Given the description of an element on the screen output the (x, y) to click on. 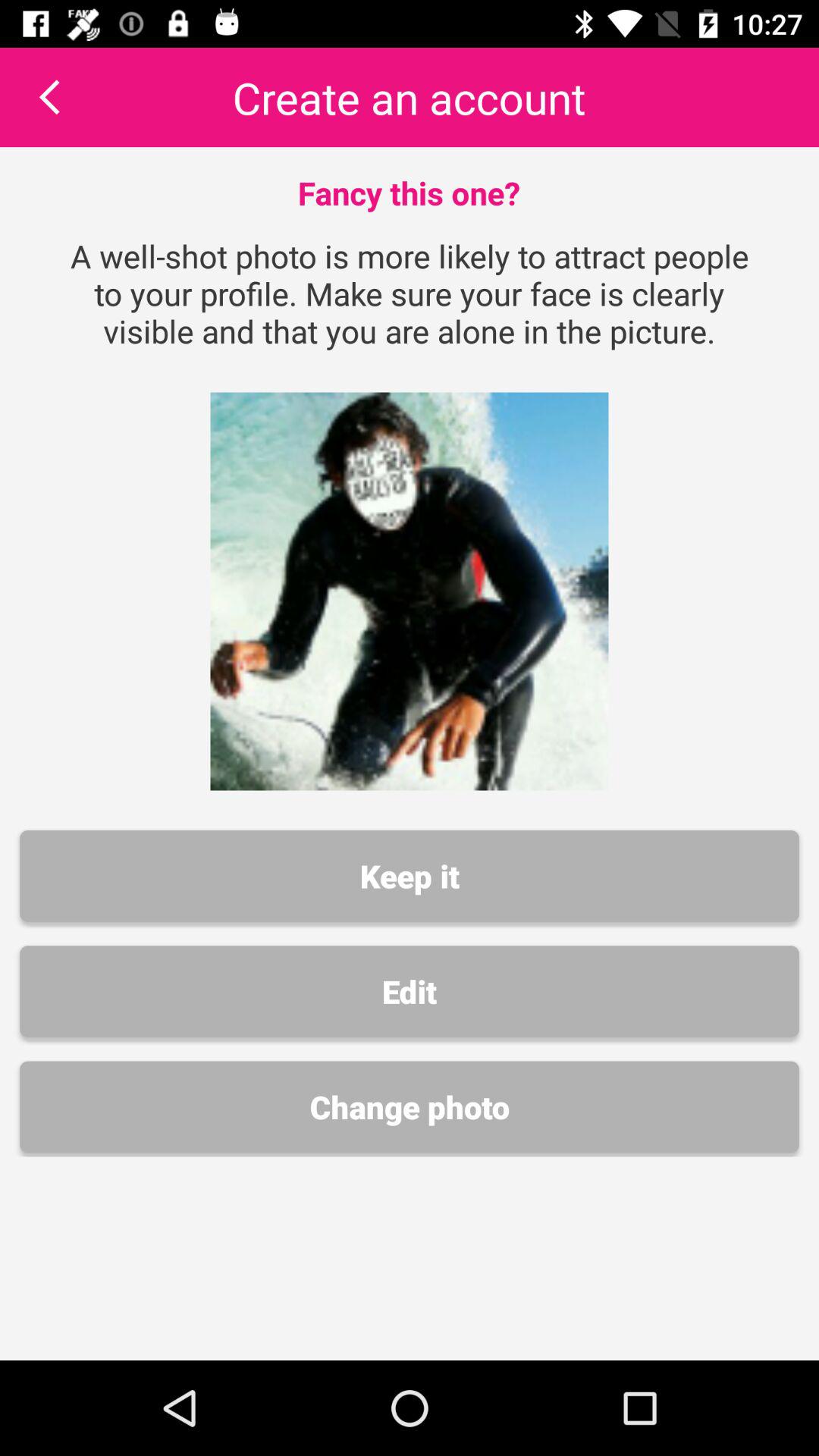
click keep it icon (409, 875)
